Given the description of an element on the screen output the (x, y) to click on. 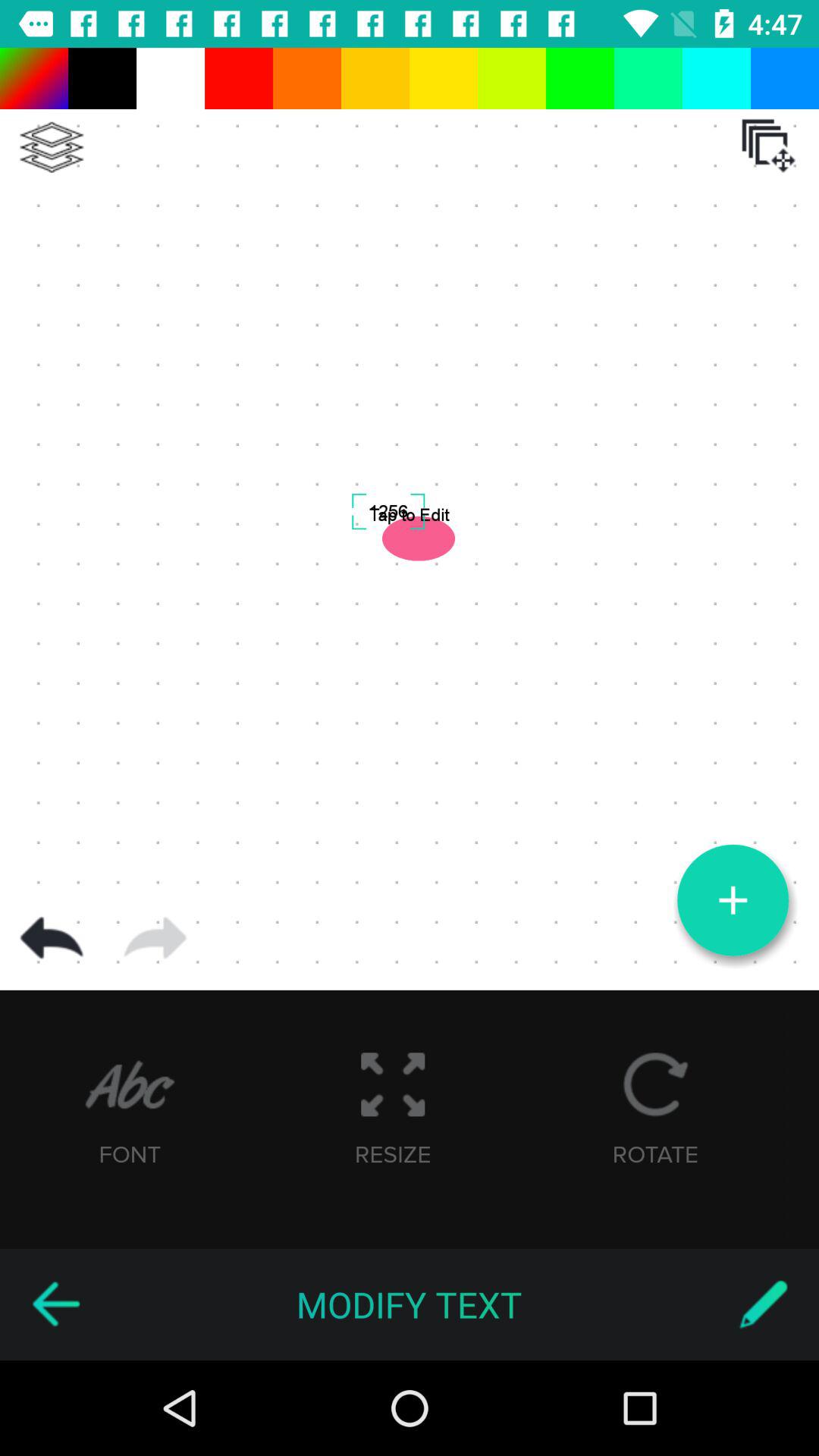
go back (51, 938)
